Given the description of an element on the screen output the (x, y) to click on. 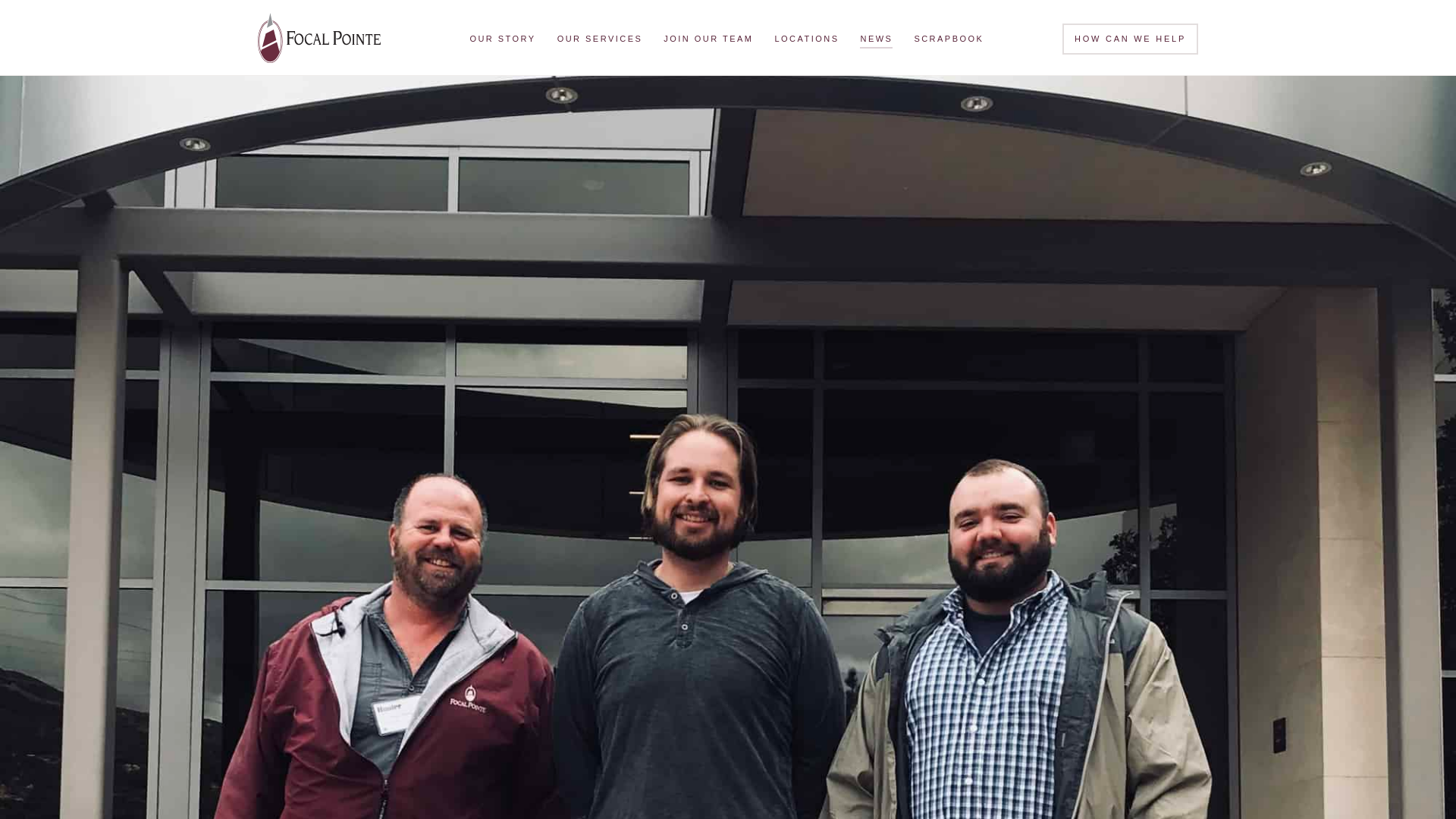
HOW CAN WE HELP (1130, 34)
NEWS (875, 33)
LOCATIONS (805, 28)
OUR SERVICES (600, 22)
JOIN OUR TEAM (707, 28)
OUR STORY (502, 19)
SCRAPBOOK (948, 33)
